Given the description of an element on the screen output the (x, y) to click on. 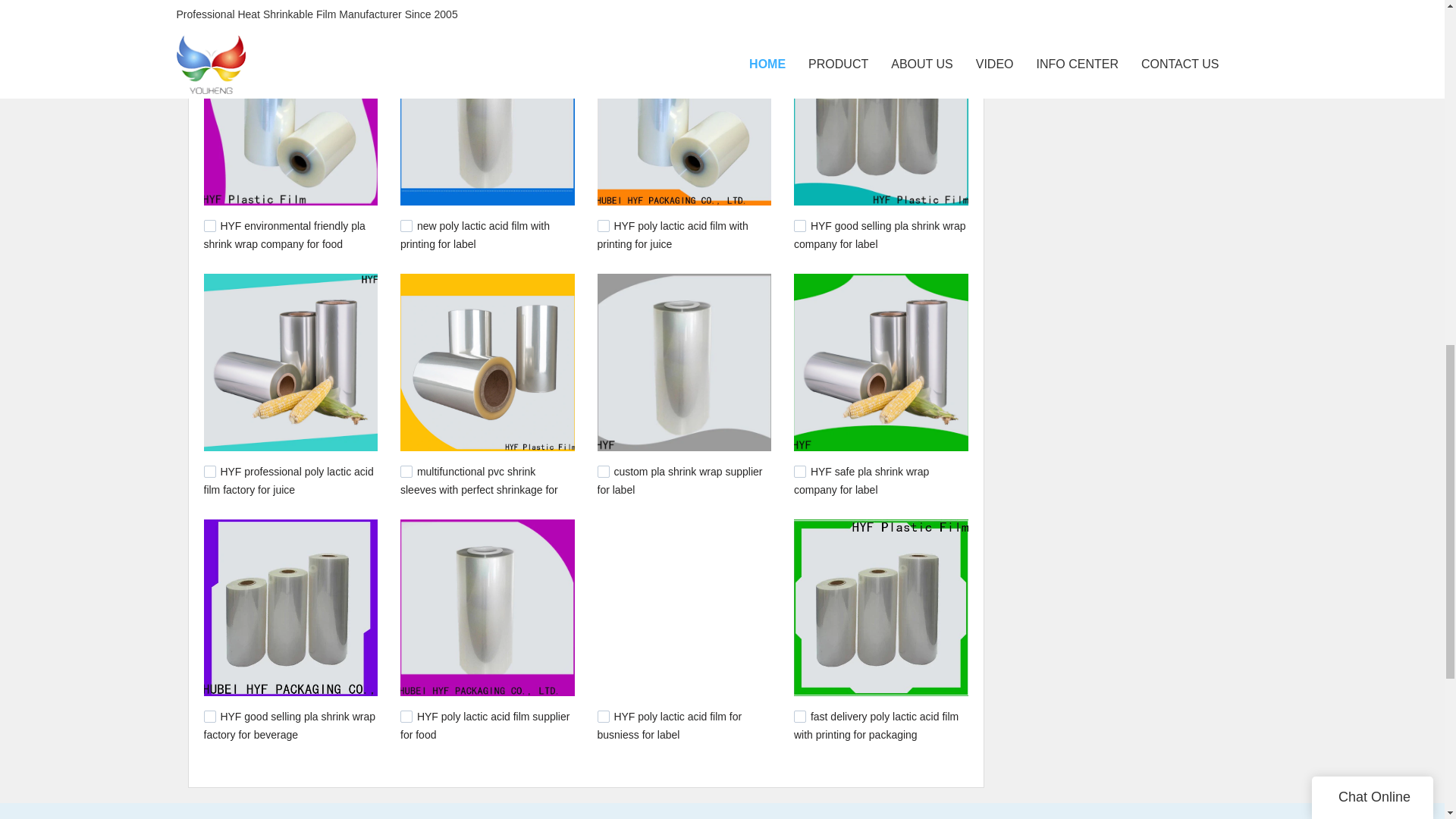
5235 (406, 225)
custom pla shrink wrap supplier for label (679, 481)
HYF good selling pla shrink wrap company for label (879, 235)
HYF poly lactic acid film with printing for juice (672, 235)
HYF poly lactic acid film supplier for food (484, 725)
custom pla shrink wrap supplier for label (679, 481)
5185 (799, 471)
HYF professional poly lactic acid film factory for juice (287, 481)
HYF poly lactic acid film for busniess for label (669, 725)
5212 (406, 471)
